Given the description of an element on the screen output the (x, y) to click on. 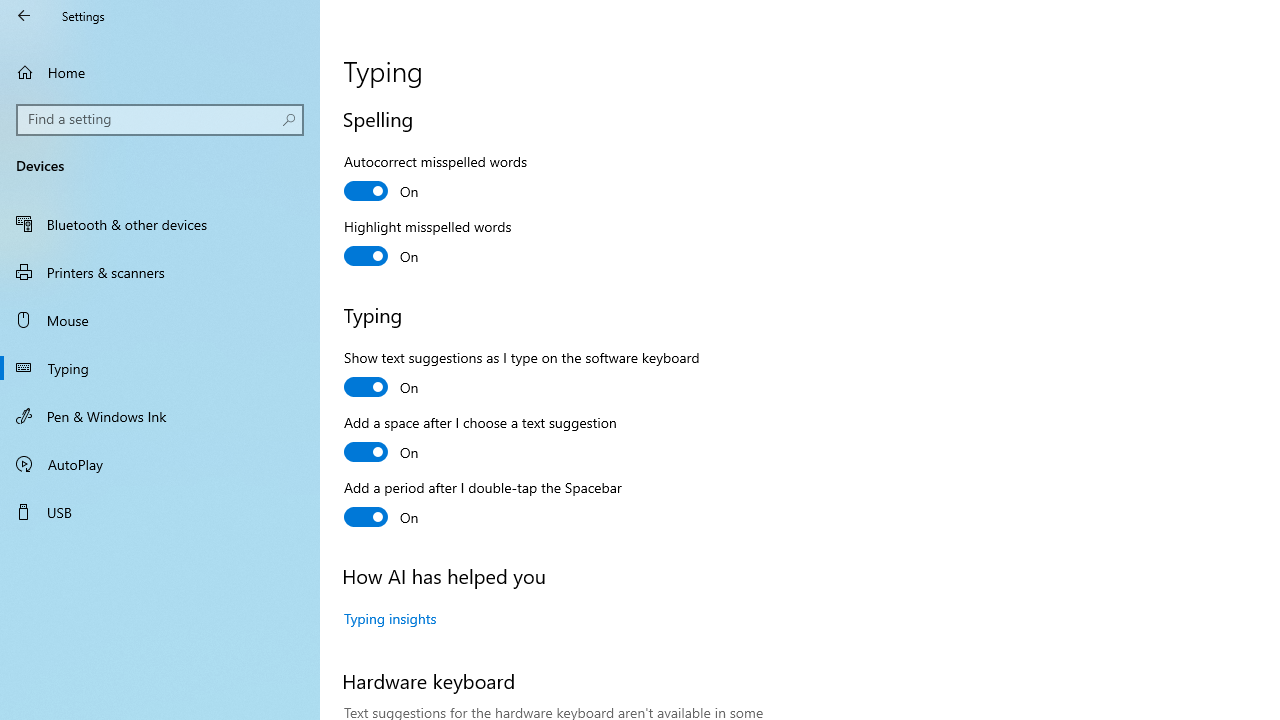
Typing (160, 367)
